Given the description of an element on the screen output the (x, y) to click on. 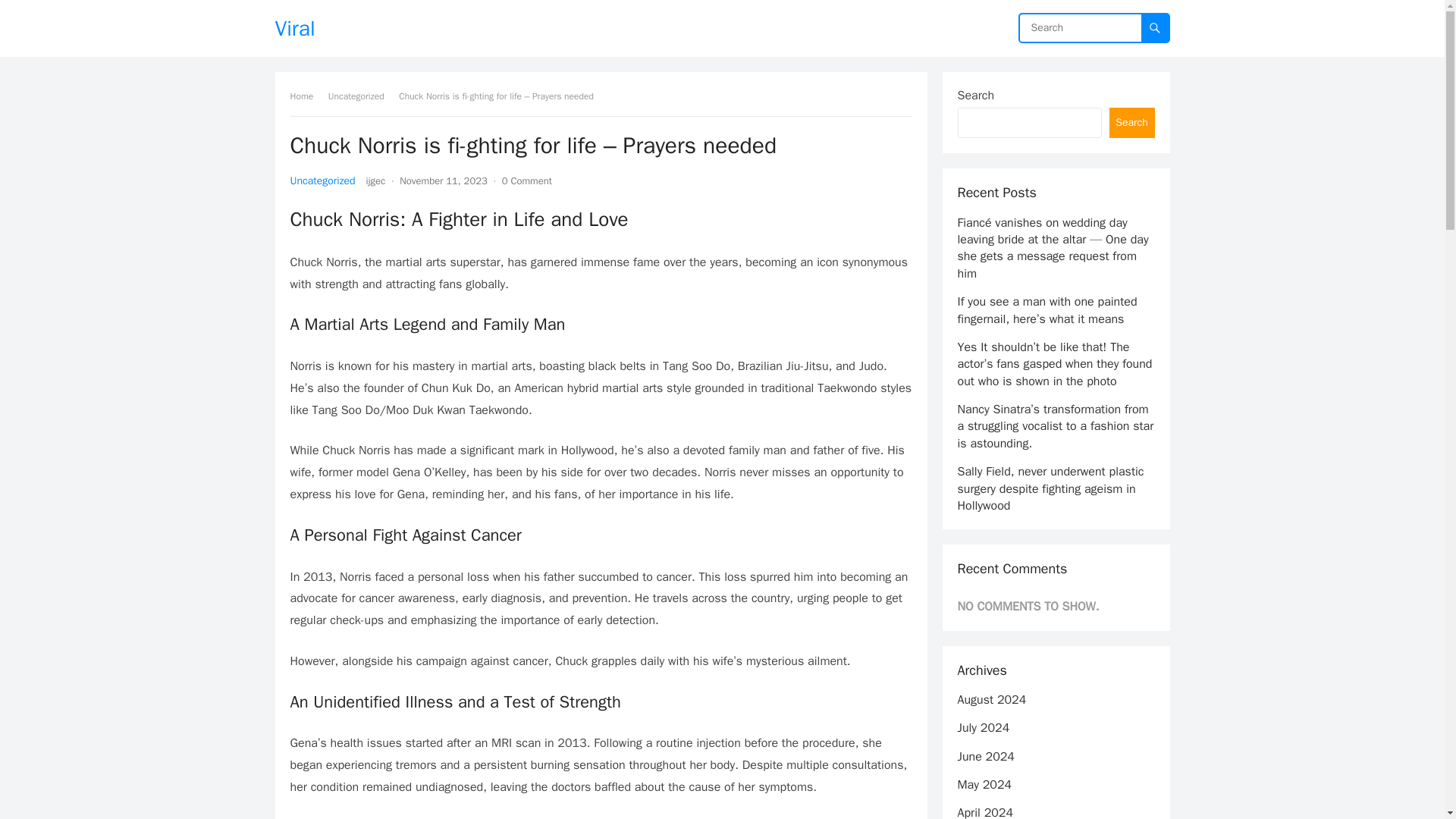
Uncategorized (322, 180)
ijgec (375, 180)
Uncategorized (361, 96)
Home (306, 96)
Posts by ijgec (375, 180)
0 Comment (526, 180)
